Given the description of an element on the screen output the (x, y) to click on. 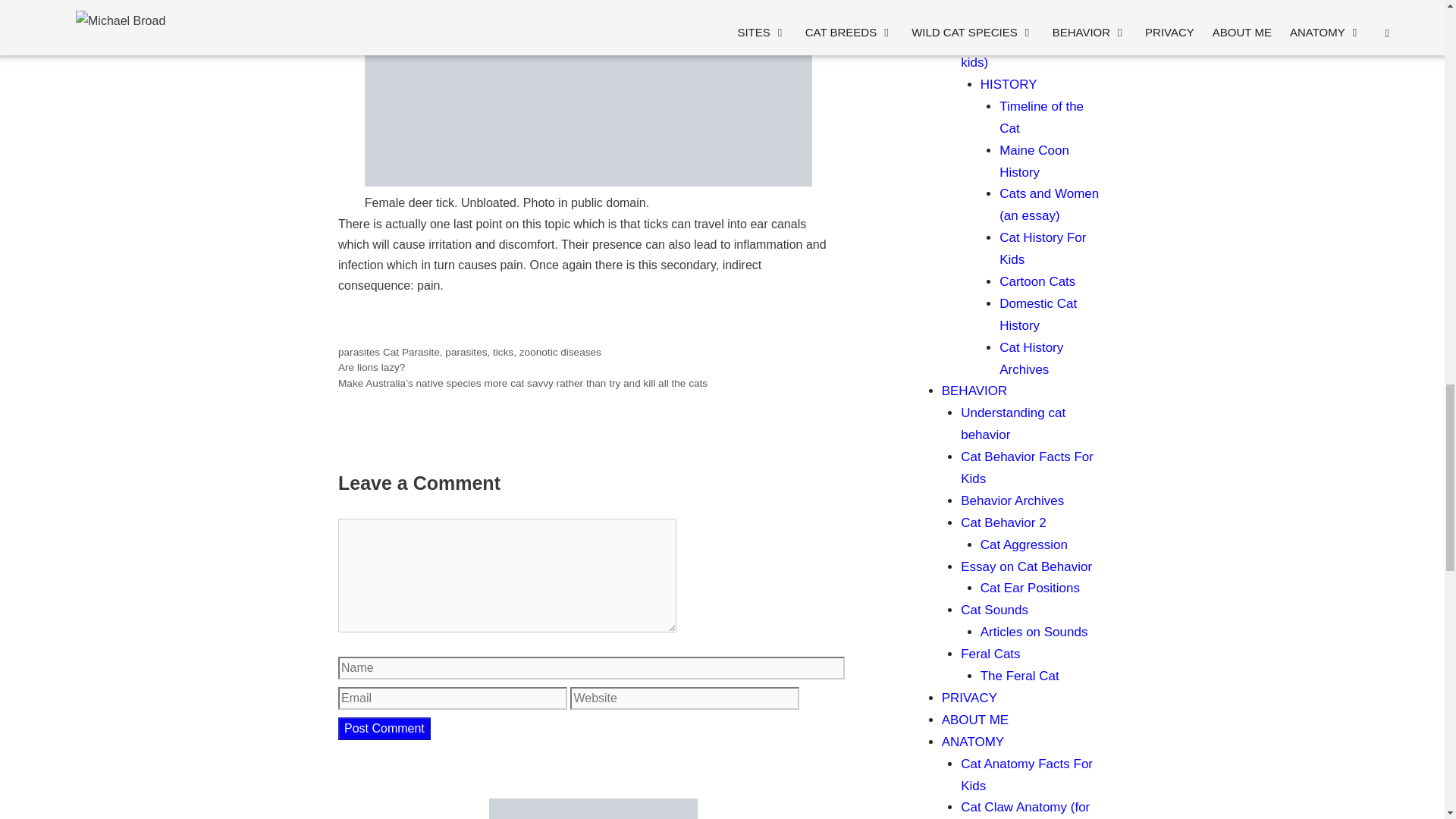
Post Comment (383, 728)
